Given the description of an element on the screen output the (x, y) to click on. 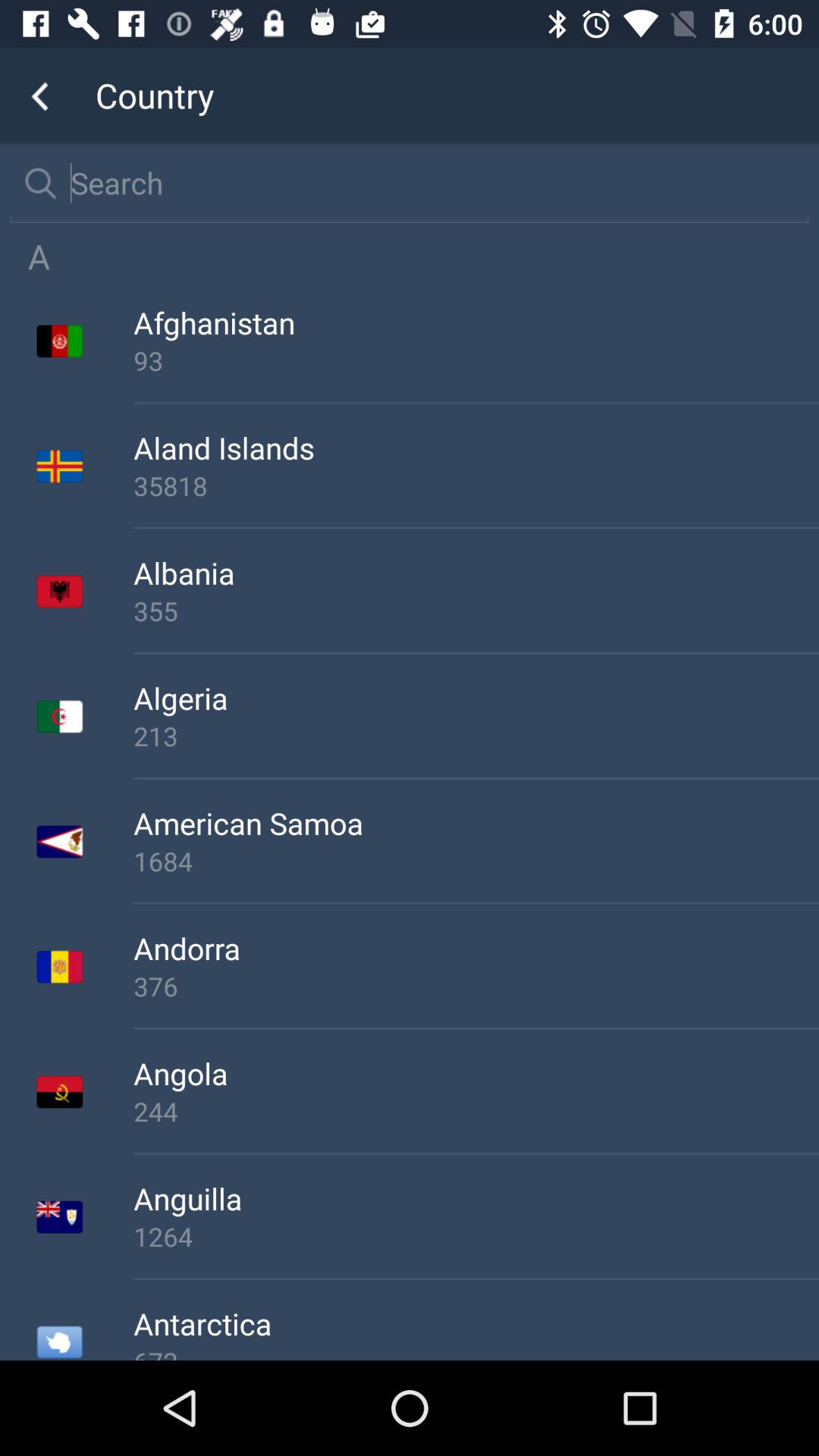
press the albania icon (476, 572)
